Given the description of an element on the screen output the (x, y) to click on. 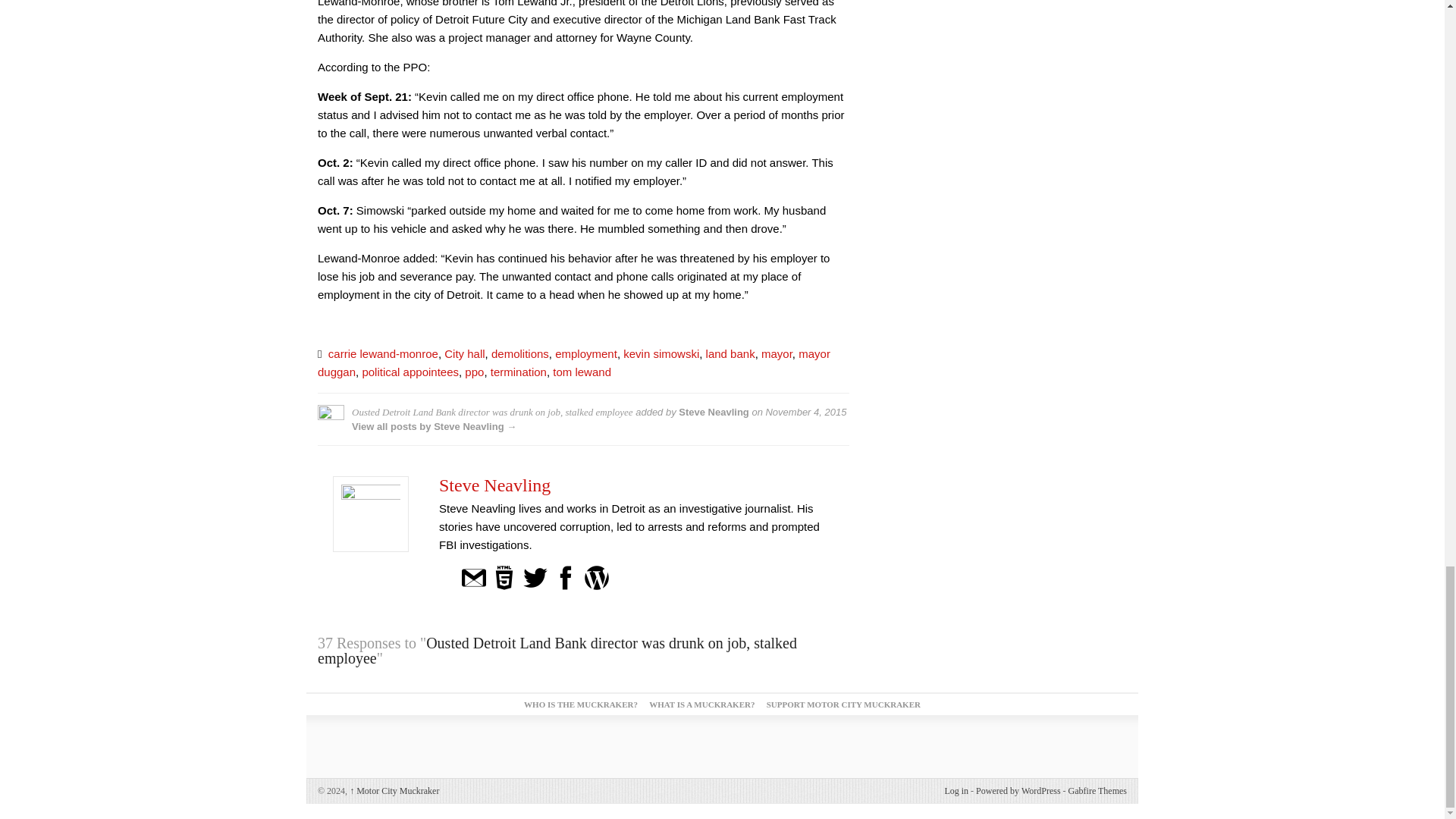
demolitions (520, 353)
City hall (464, 353)
Steve Neavling On Twitter (534, 576)
Steve Neavling (494, 485)
carrie lewand-monroe (383, 353)
Steve Neavling On The Web (504, 576)
Send Steve Neavling Mail (473, 576)
